Given the description of an element on the screen output the (x, y) to click on. 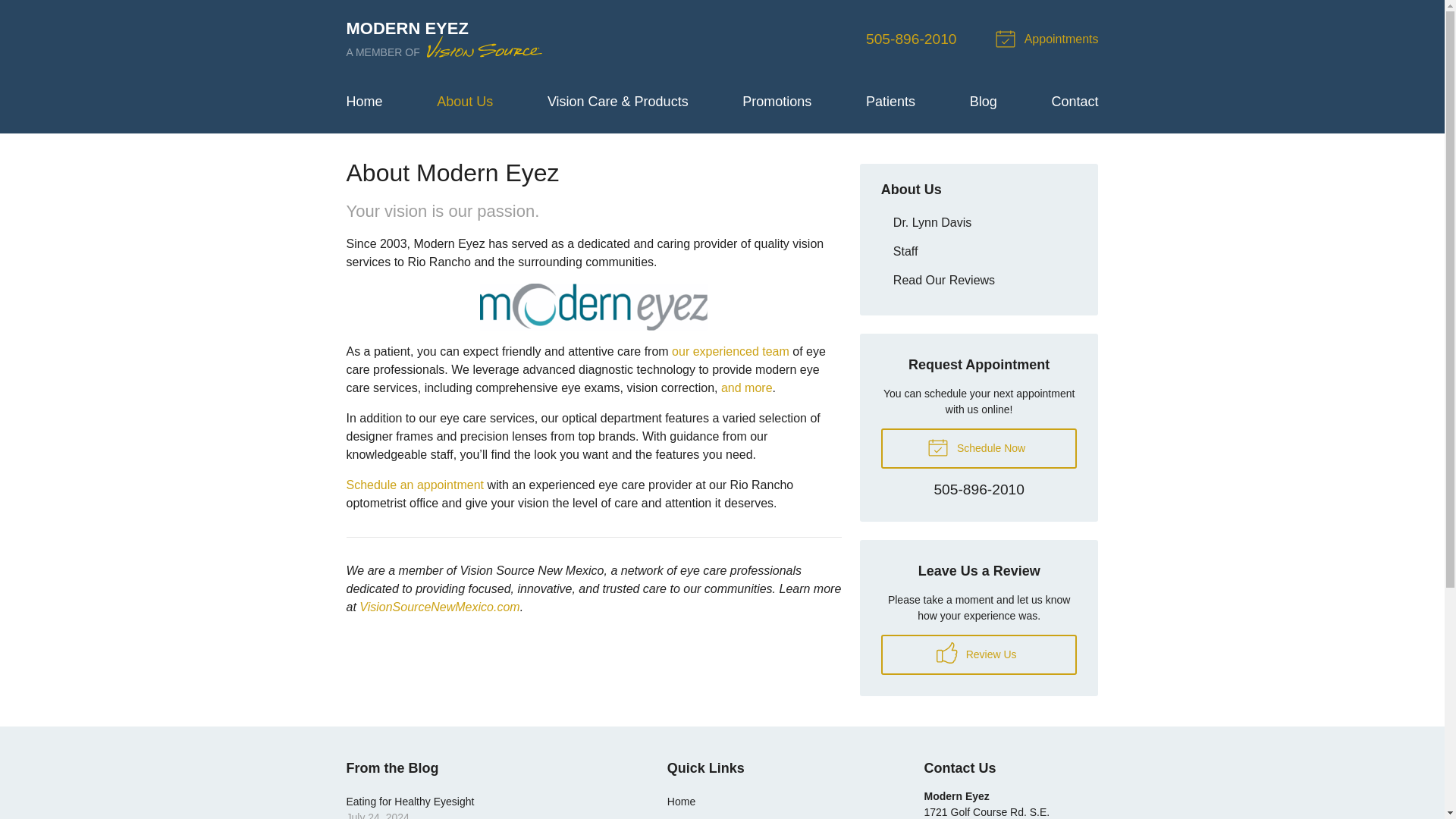
Dr. Lynn Davis (978, 222)
Open this address in Google Maps (986, 812)
Call practice (979, 490)
About Us (911, 189)
Staff (978, 251)
Schedule an appointment (414, 484)
Leave Us A Review (978, 654)
Patients (890, 101)
Home (363, 101)
VisionSourceNewMexico.com (439, 606)
and more (746, 387)
Modern Eyez (445, 39)
Request Appointment (1048, 39)
Promotions (776, 101)
Review Us (978, 654)
